Given the description of an element on the screen output the (x, y) to click on. 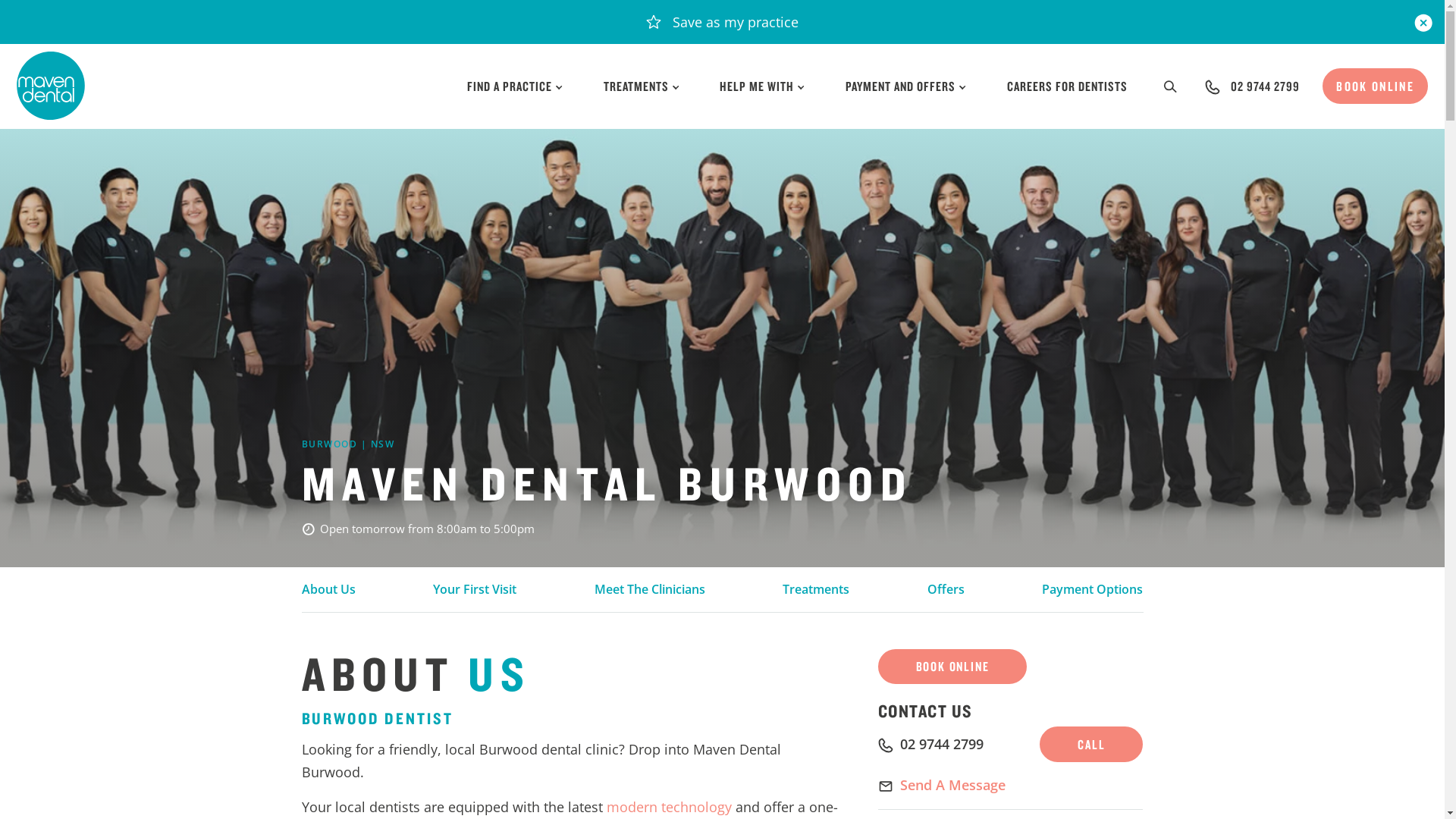
BOOK ONLINE Element type: text (1374, 85)
BOOK ONLINE Element type: text (952, 666)
Save as my practice Element type: text (721, 21)
CAREERS FOR DENTISTS Element type: text (1066, 85)
TREATMENTS Element type: text (642, 85)
Payment Options Element type: text (1091, 588)
02 9744 2799 Element type: text (1264, 86)
CALL Element type: text (1090, 744)
HELP ME WITH Element type: text (762, 85)
Meet The Clinicians Element type: text (649, 588)
Maven Logo Element type: hover (50, 86)
modern technology Element type: text (668, 806)
Your First Visit Element type: text (474, 588)
Offers Element type: text (945, 588)
About Us Element type: text (328, 588)
Send A Message Element type: text (951, 784)
Treatments Element type: text (815, 588)
